Given the description of an element on the screen output the (x, y) to click on. 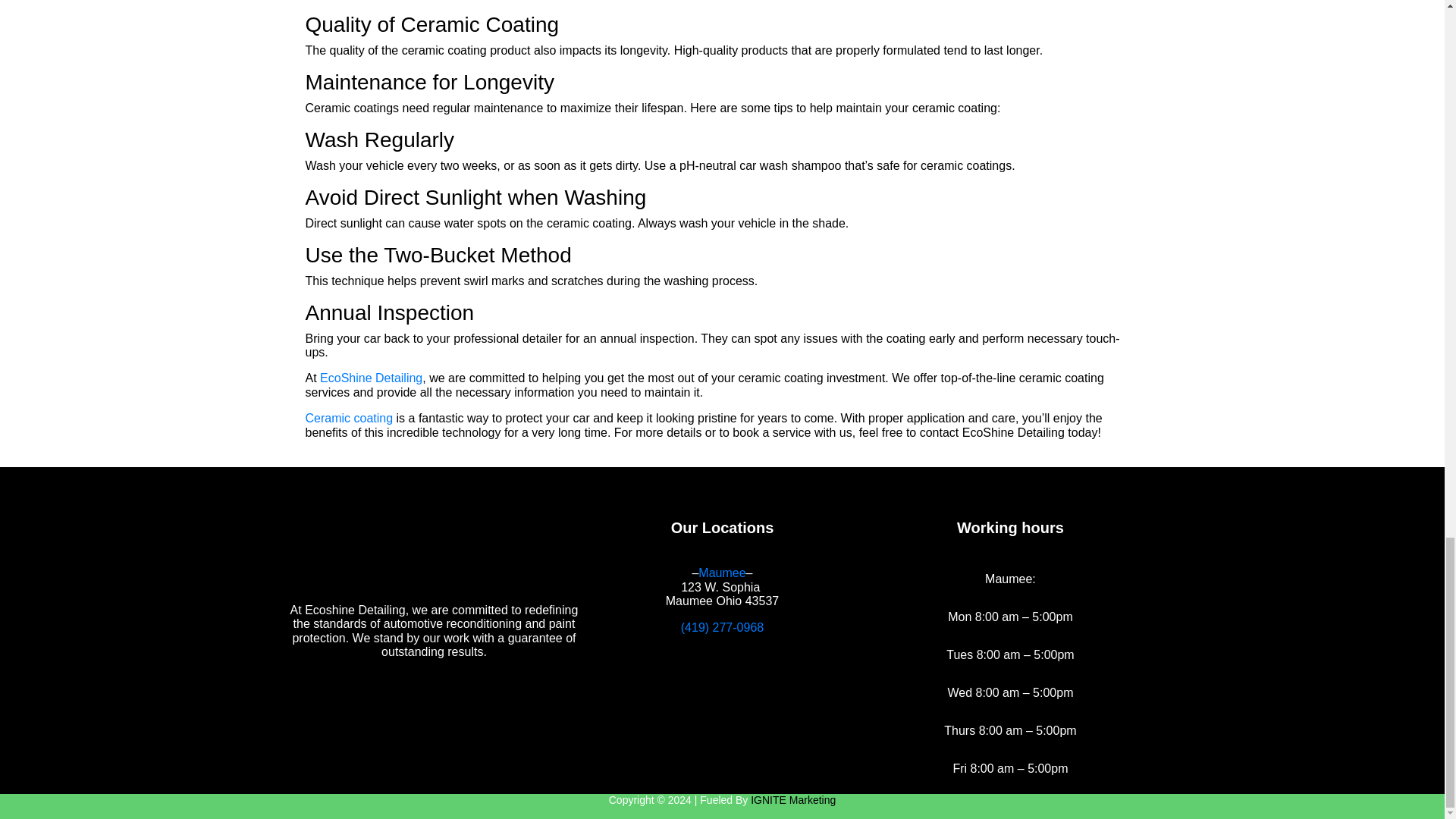
Ceramic coating (348, 418)
Maumee (721, 572)
IGNITE Marketing (793, 799)
EcoShine Detailing (371, 377)
